Given the description of an element on the screen output the (x, y) to click on. 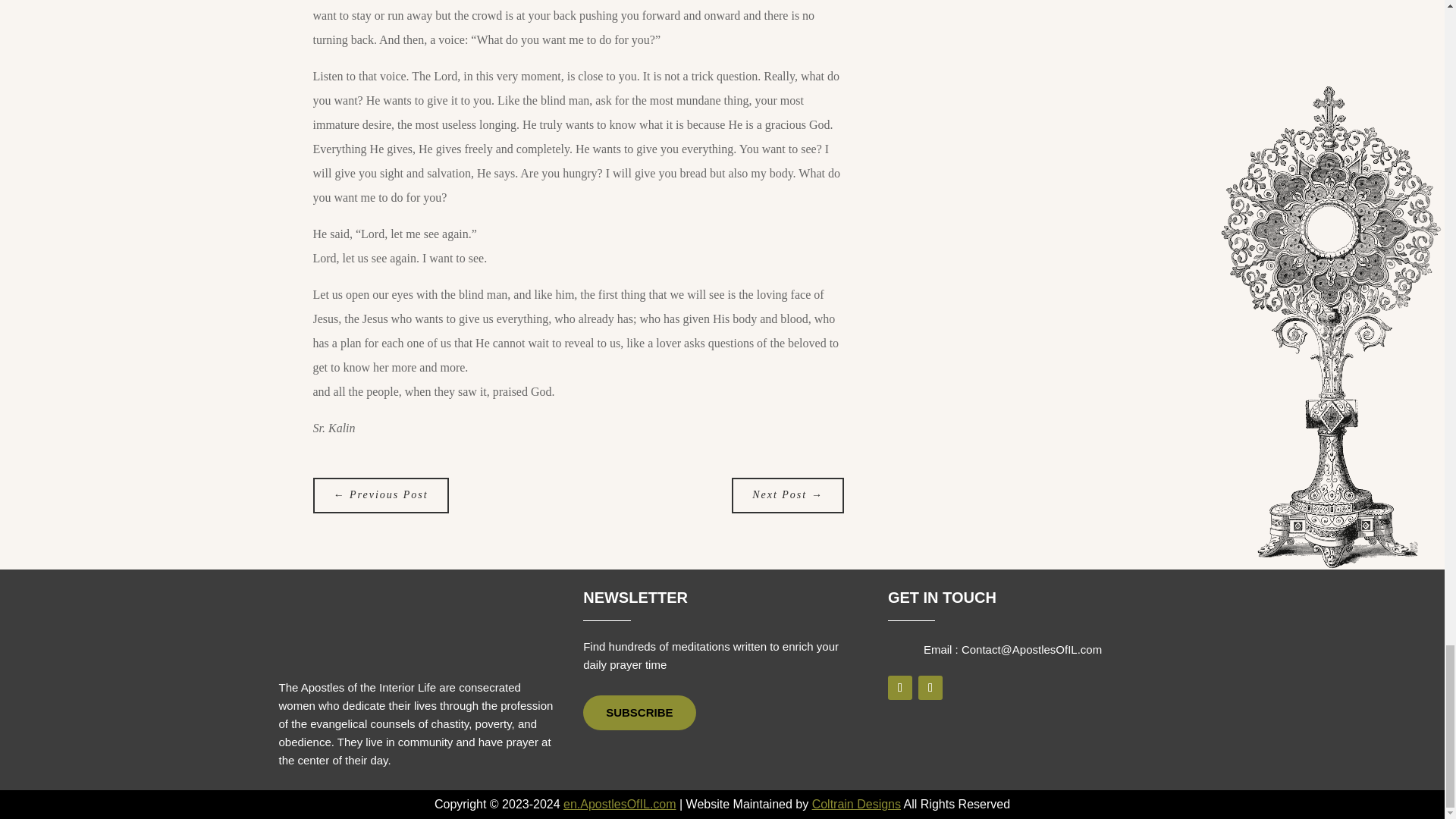
Follow on Facebook (900, 687)
Coltrain Designs (856, 803)
SUBSCRIBE (639, 712)
en.ApostlesOfIL.com (620, 803)
Follow on Youtube (930, 687)
cropped-Logo-and-name-mask.png (317, 627)
